Given the description of an element on the screen output the (x, y) to click on. 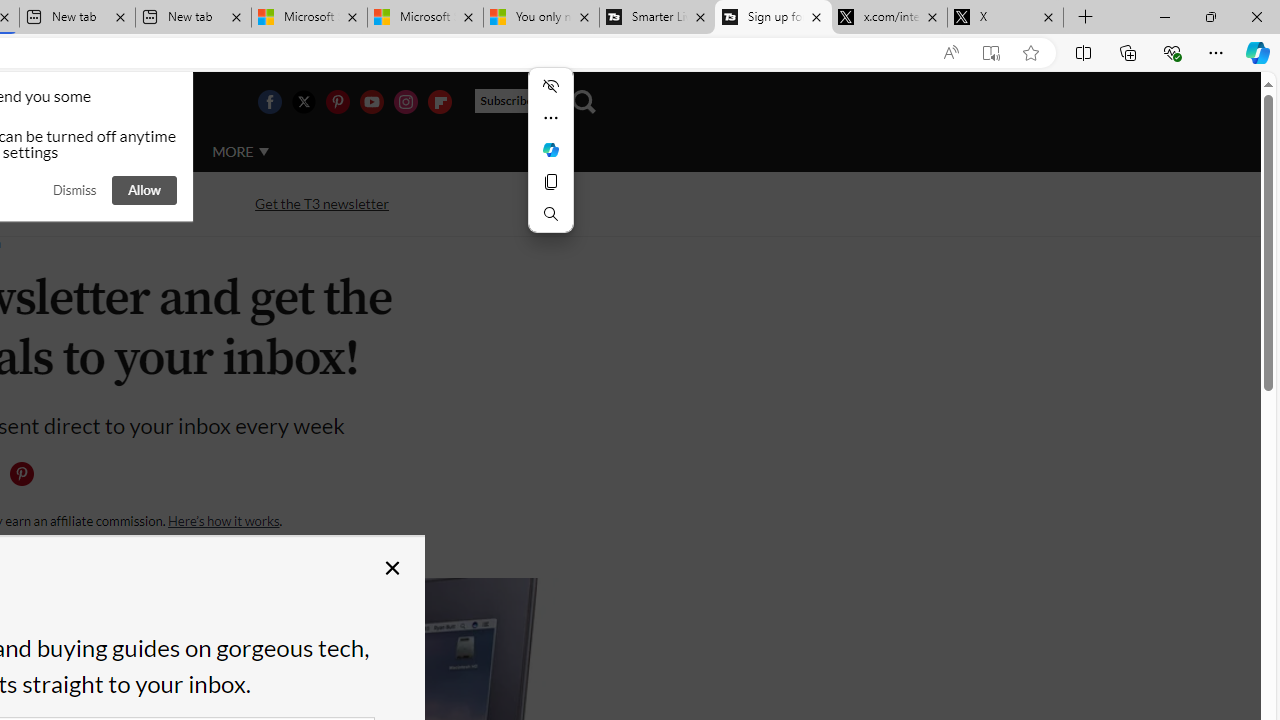
Enter Immersive Reader (F9) (991, 53)
Visit us on Pintrest (337, 101)
MORE  (239, 151)
Class: svg-arrow-down (264, 151)
LUXURY (66, 151)
Visit us on Instagram (405, 101)
Ask Copilot (550, 149)
Class: navigation__search (583, 101)
Streaming TV and movies (105, 202)
Subscribe (514, 101)
